Given the description of an element on the screen output the (x, y) to click on. 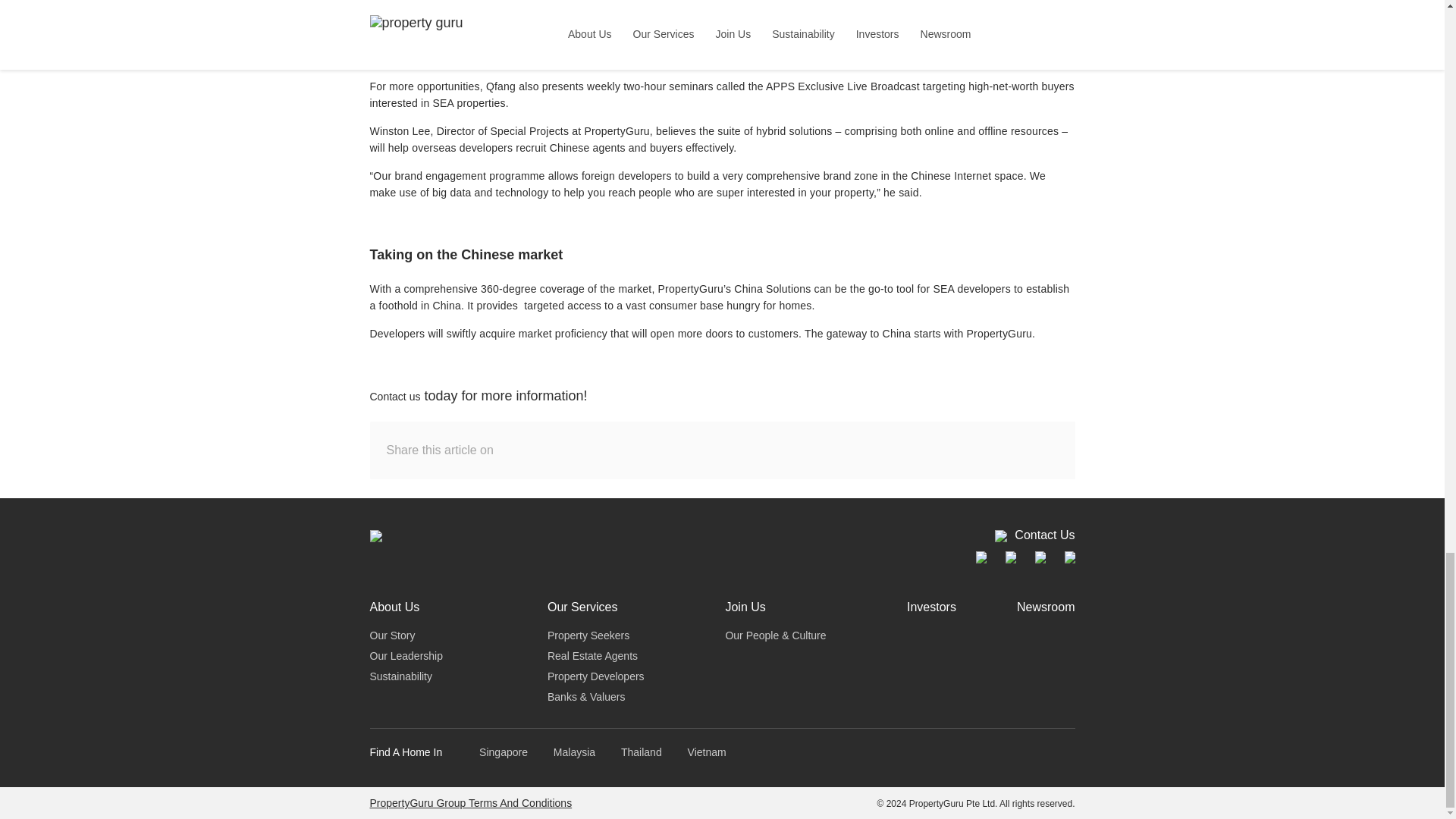
Our Story (391, 635)
Our Leadership (406, 655)
Contact Us (1034, 535)
Contact us (394, 396)
About Us (394, 606)
